Given the description of an element on the screen output the (x, y) to click on. 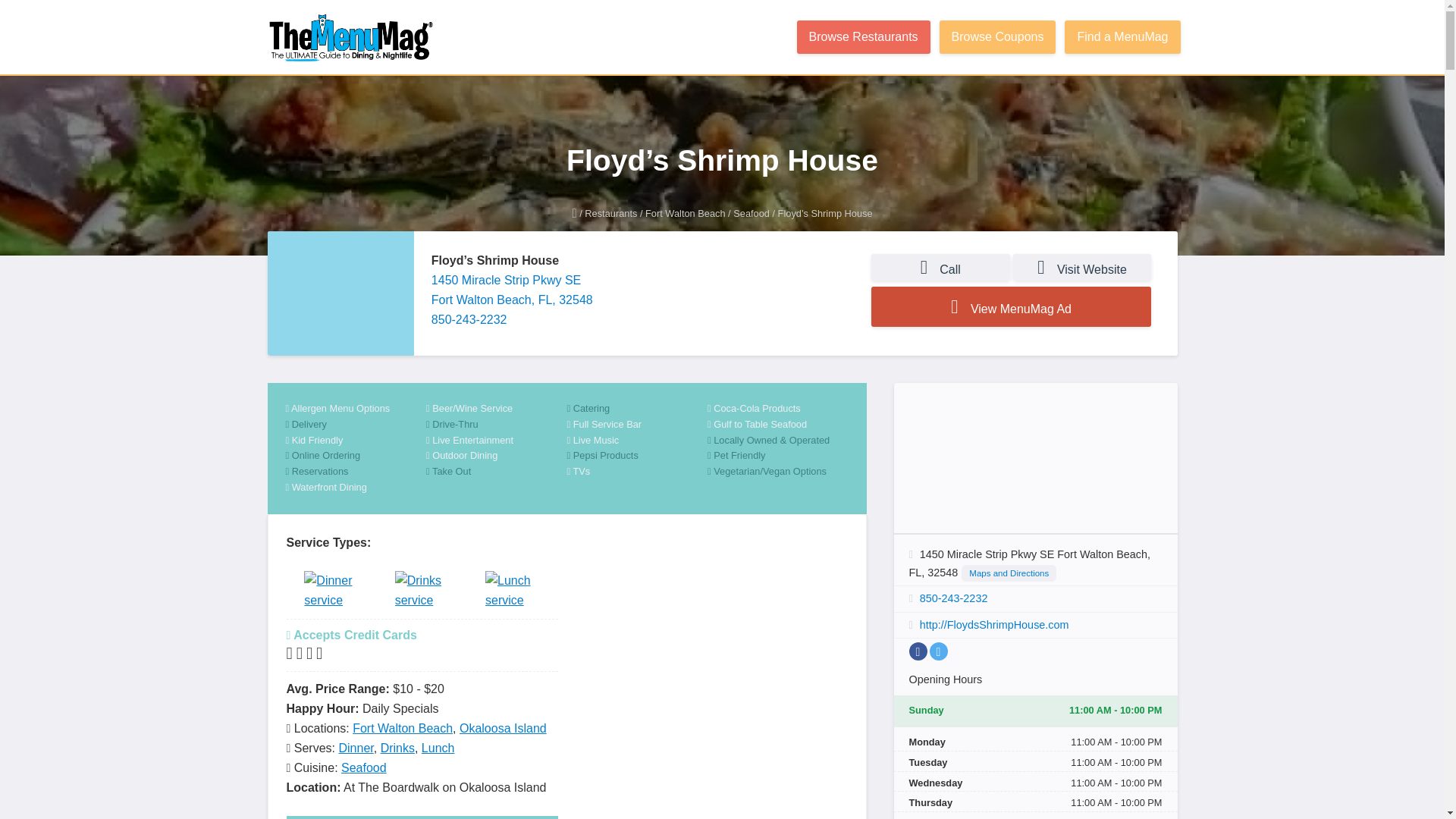
serves Drinks (422, 592)
Call (940, 266)
Allergen Menu Options (355, 408)
Gulf to Table Seafood (777, 424)
Full Service Bar (637, 424)
Browse Coupons (998, 37)
Fort Walton Beach (685, 213)
Fort Walton Beach Seafood (751, 213)
Visit Website (1082, 266)
Catering (637, 408)
